Given the description of an element on the screen output the (x, y) to click on. 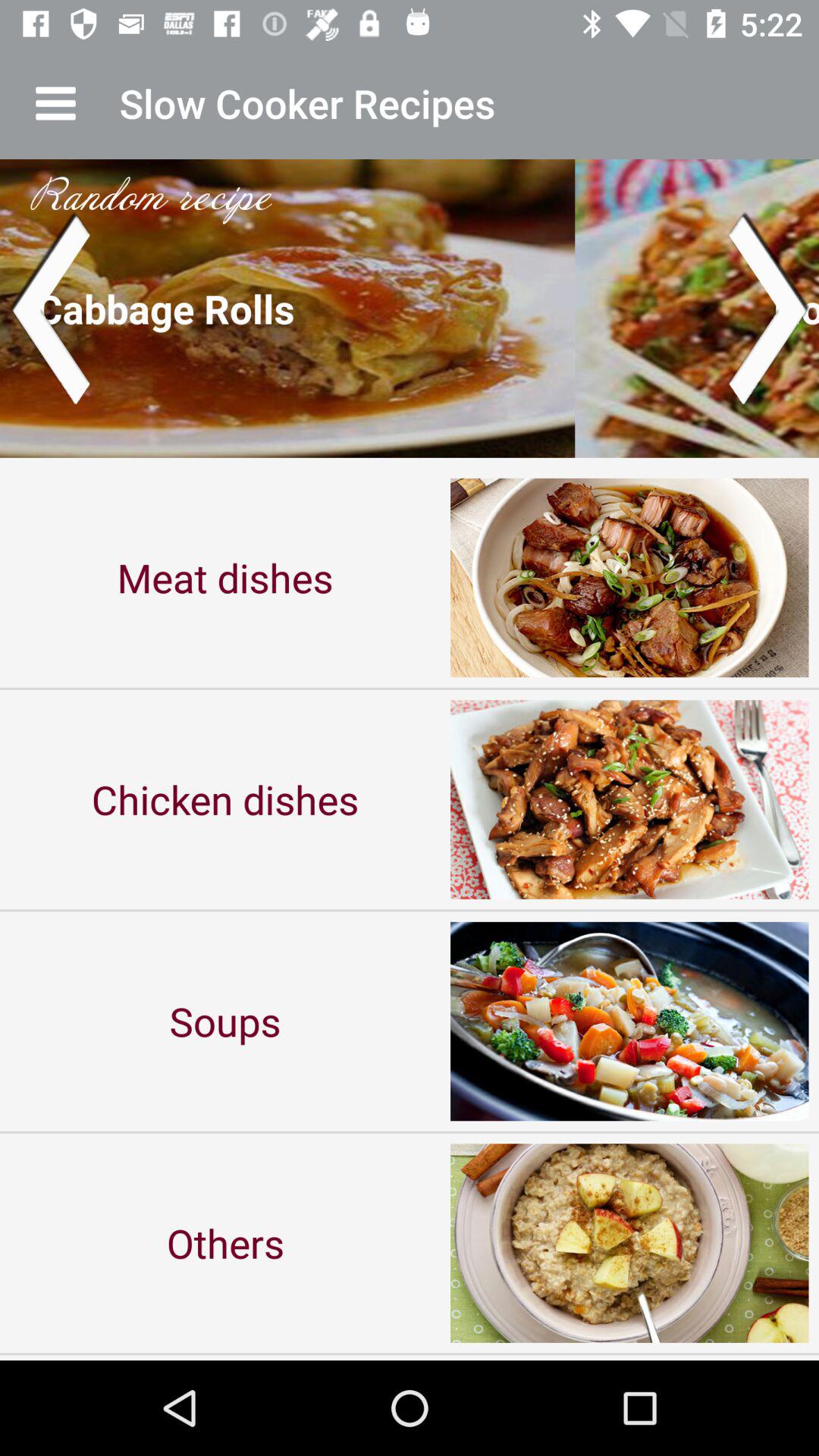
press the item above the meat dishes item (409, 308)
